Given the description of an element on the screen output the (x, y) to click on. 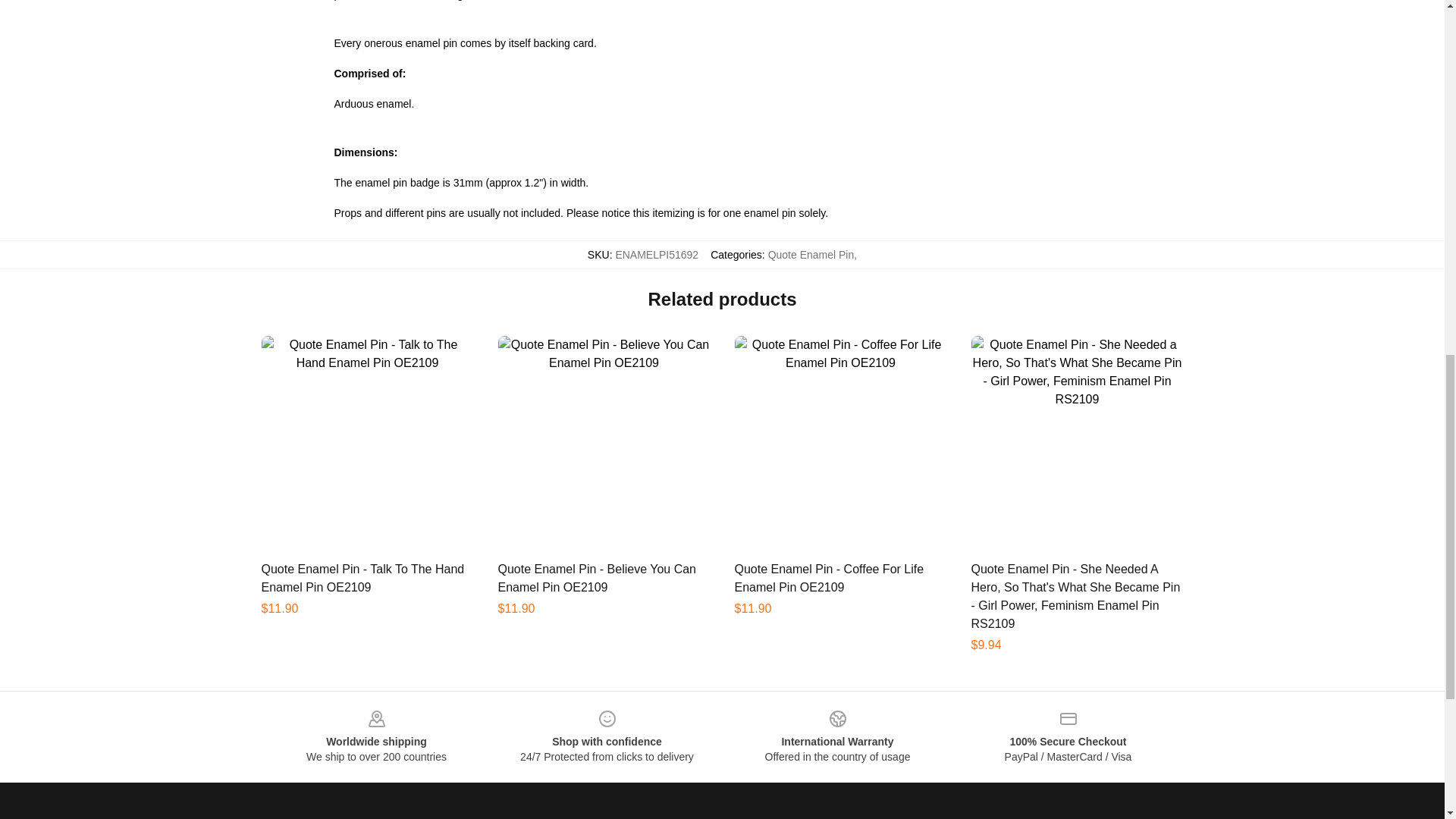
Quote Enamel Pin - Talk To The Hand Enamel Pin OE2109 (362, 577)
Quote Enamel Pin - Believe You Can Enamel Pin OE2109 (596, 577)
Quote Enamel Pin (811, 254)
